Given the description of an element on the screen output the (x, y) to click on. 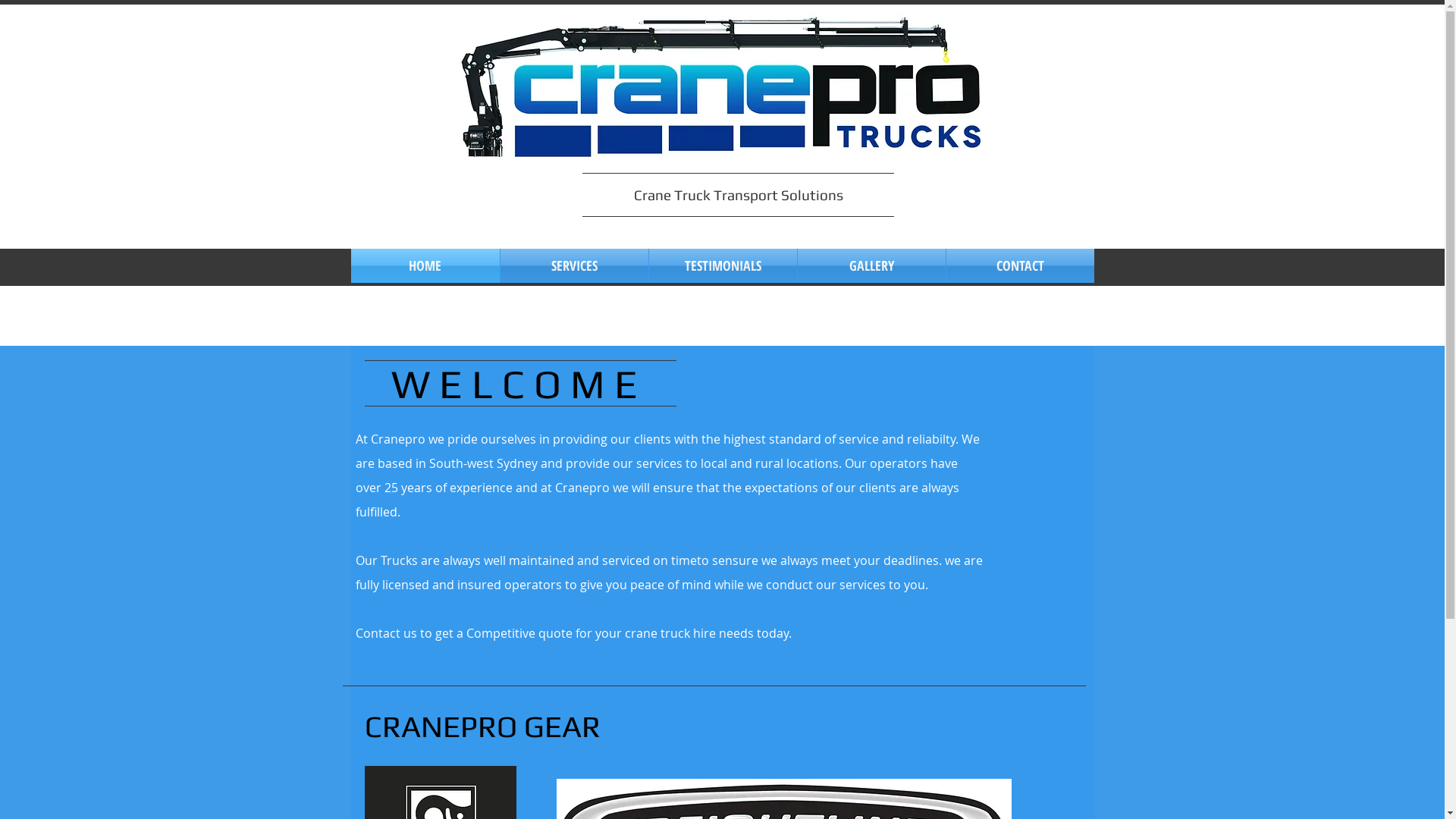
TESTIMONIALS Element type: text (723, 265)
SERVICES Element type: text (574, 265)
GALLERY Element type: text (871, 265)
Final Logo-01.jpg Element type: hover (723, 87)
CRANEPRO GEAR  Element type: text (485, 726)
HOME Element type: text (424, 265)
CONTACT Element type: text (1020, 265)
